Given the description of an element on the screen output the (x, y) to click on. 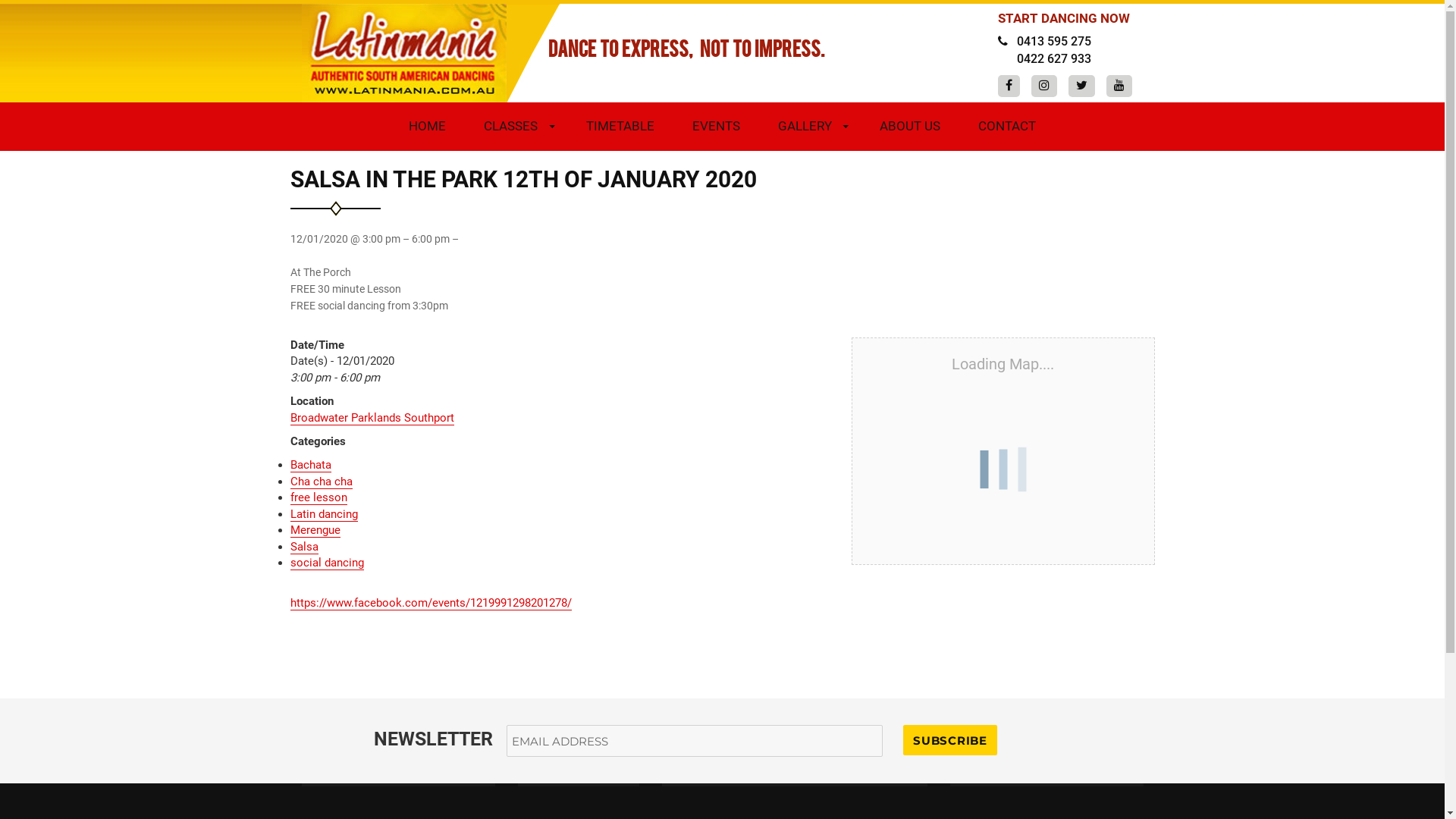
Bachata Element type: text (309, 464)
Salsa Element type: text (303, 546)
Broadwater Parklands Southport Element type: text (371, 417)
EVENTS Element type: text (716, 125)
CONTACT Element type: text (1006, 125)
CLASSES Element type: text (515, 125)
Subscribe Element type: text (950, 739)
GALLERY Element type: text (808, 125)
social dancing Element type: text (326, 562)
HOME Element type: text (426, 125)
TIMETABLE Element type: text (620, 125)
Cha cha cha Element type: text (320, 481)
Merengue Element type: text (314, 529)
free lesson Element type: text (317, 497)
ABOUT US Element type: text (909, 125)
https://www.facebook.com/events/1219991298201278/ Element type: text (430, 602)
Latin dancing Element type: text (323, 513)
